Given the description of an element on the screen output the (x, y) to click on. 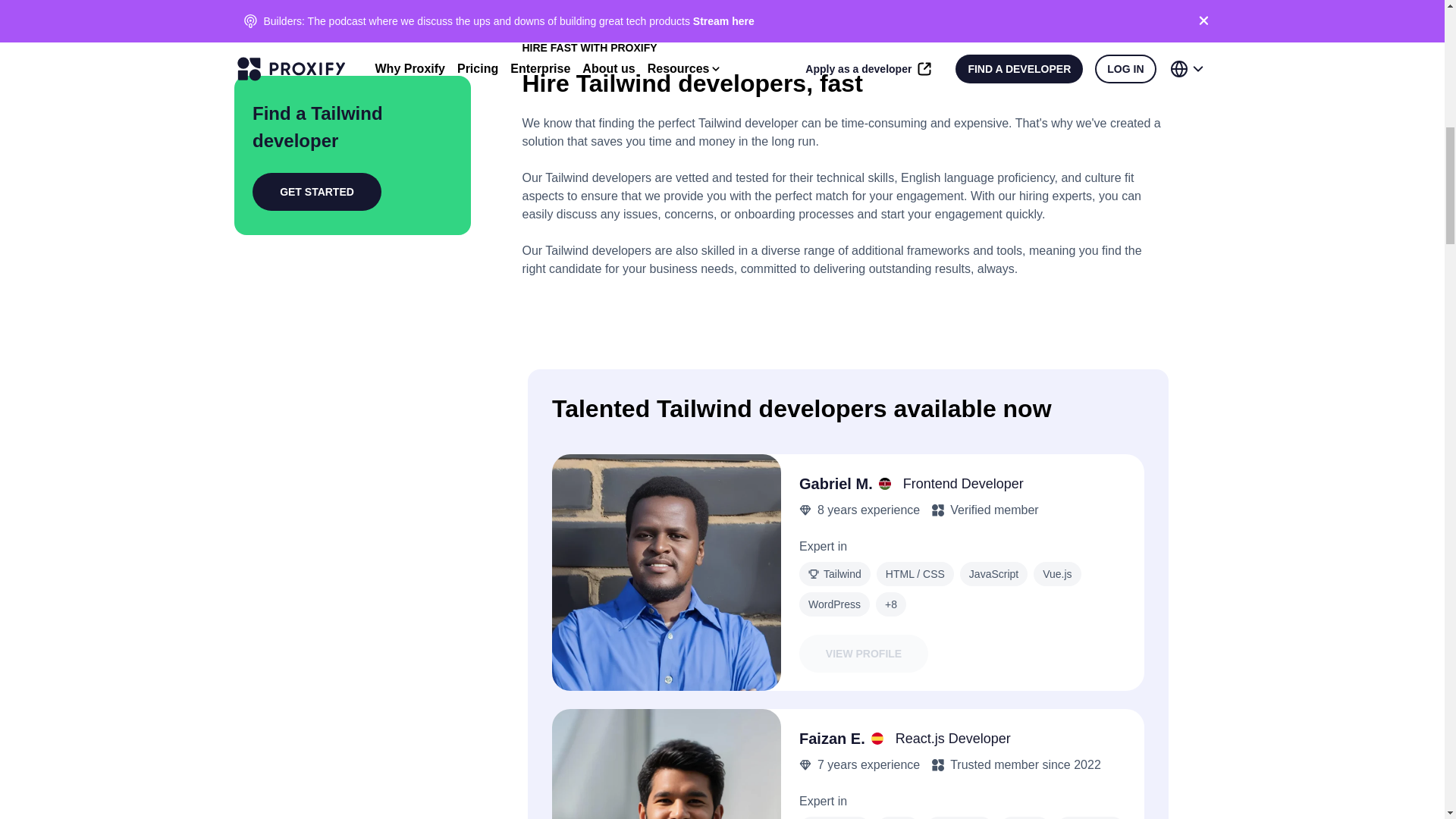
GET STARTED (316, 152)
VIEW PROFILE (863, 653)
